Given the description of an element on the screen output the (x, y) to click on. 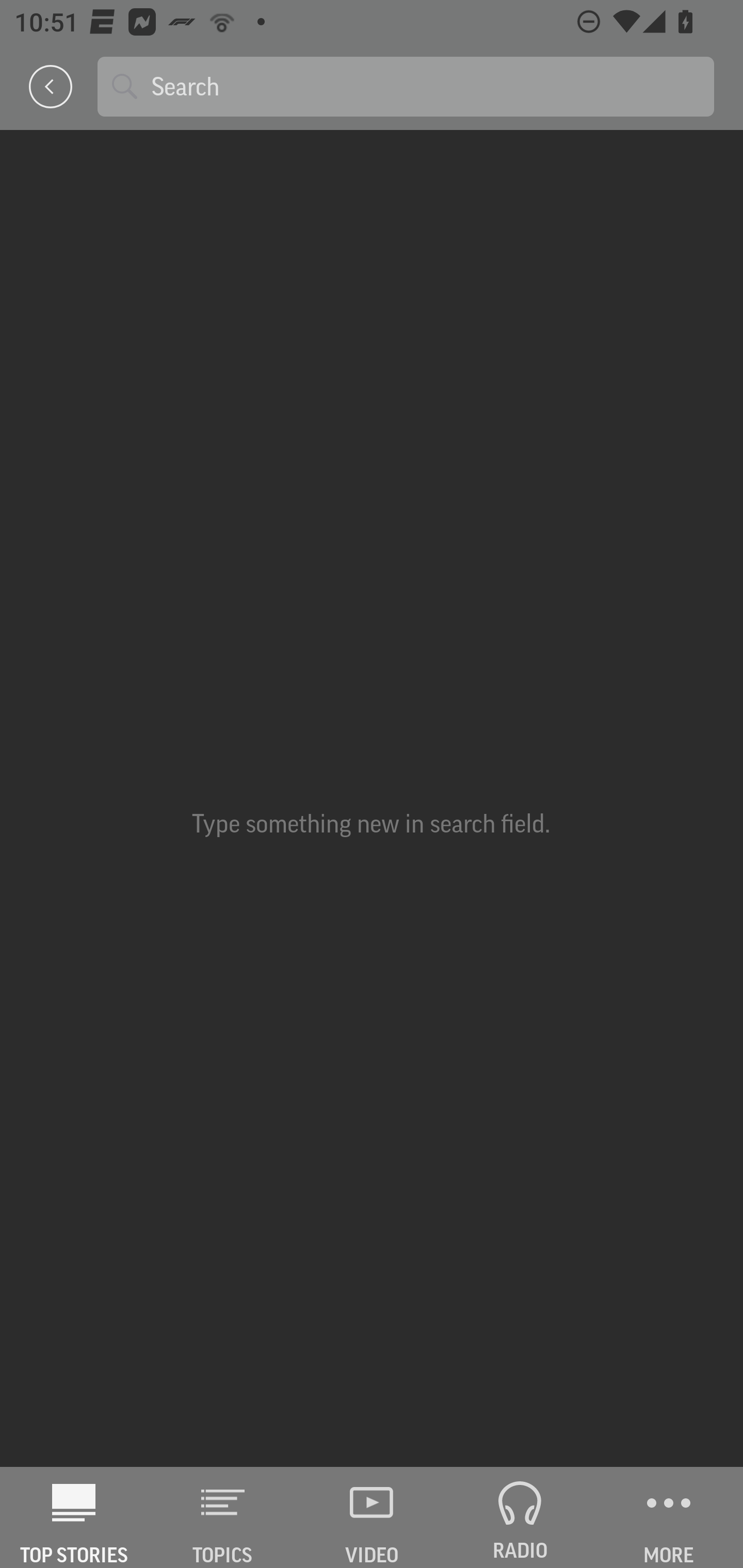
Search (425, 86)
AP News TOP STORIES (74, 1517)
TOPICS (222, 1517)
VIDEO (371, 1517)
RADIO (519, 1517)
MORE (668, 1517)
